Given the description of an element on the screen output the (x, y) to click on. 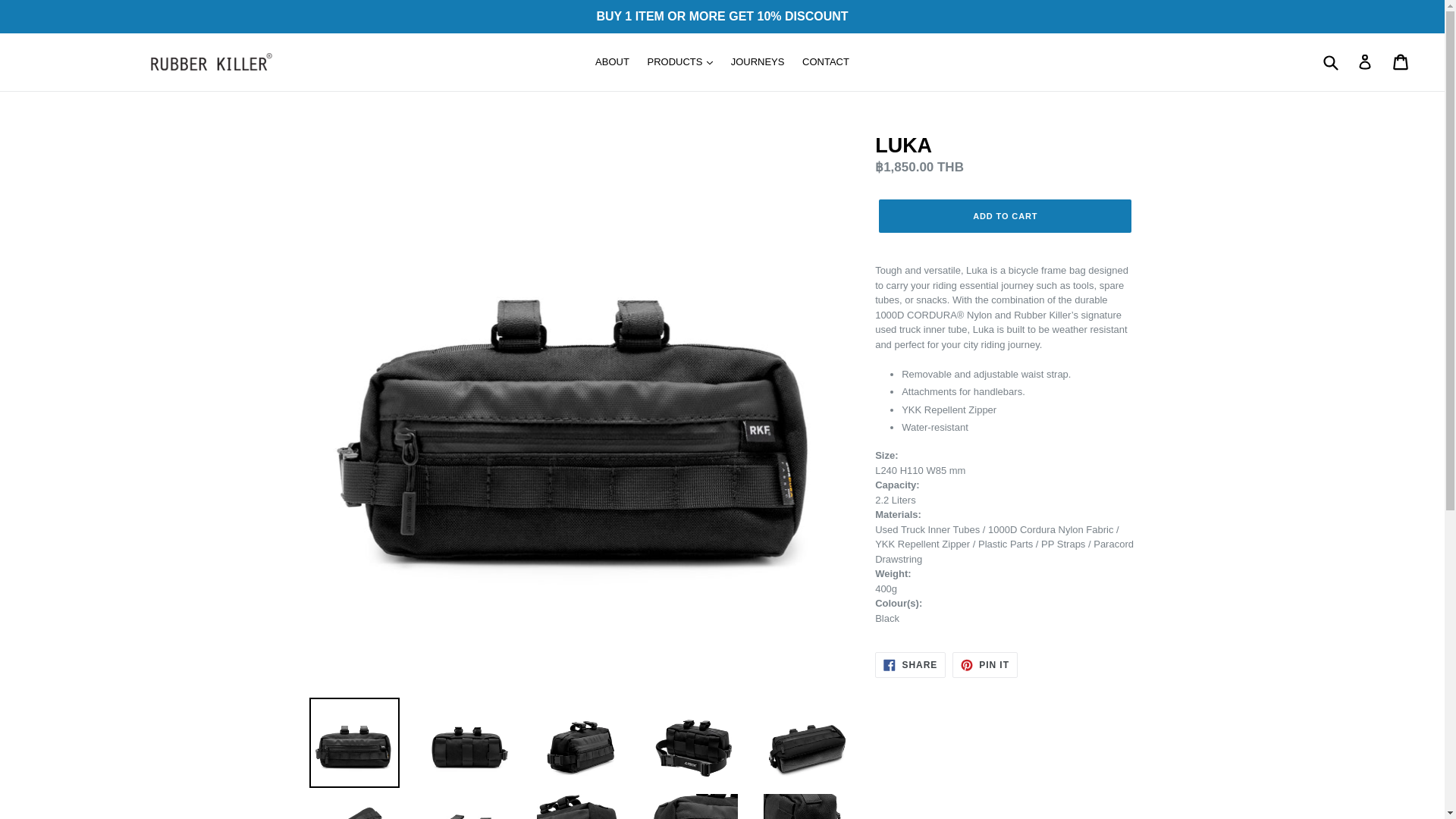
Pin on Pinterest (984, 664)
Share on Facebook (909, 664)
ABOUT (612, 62)
